Given the description of an element on the screen output the (x, y) to click on. 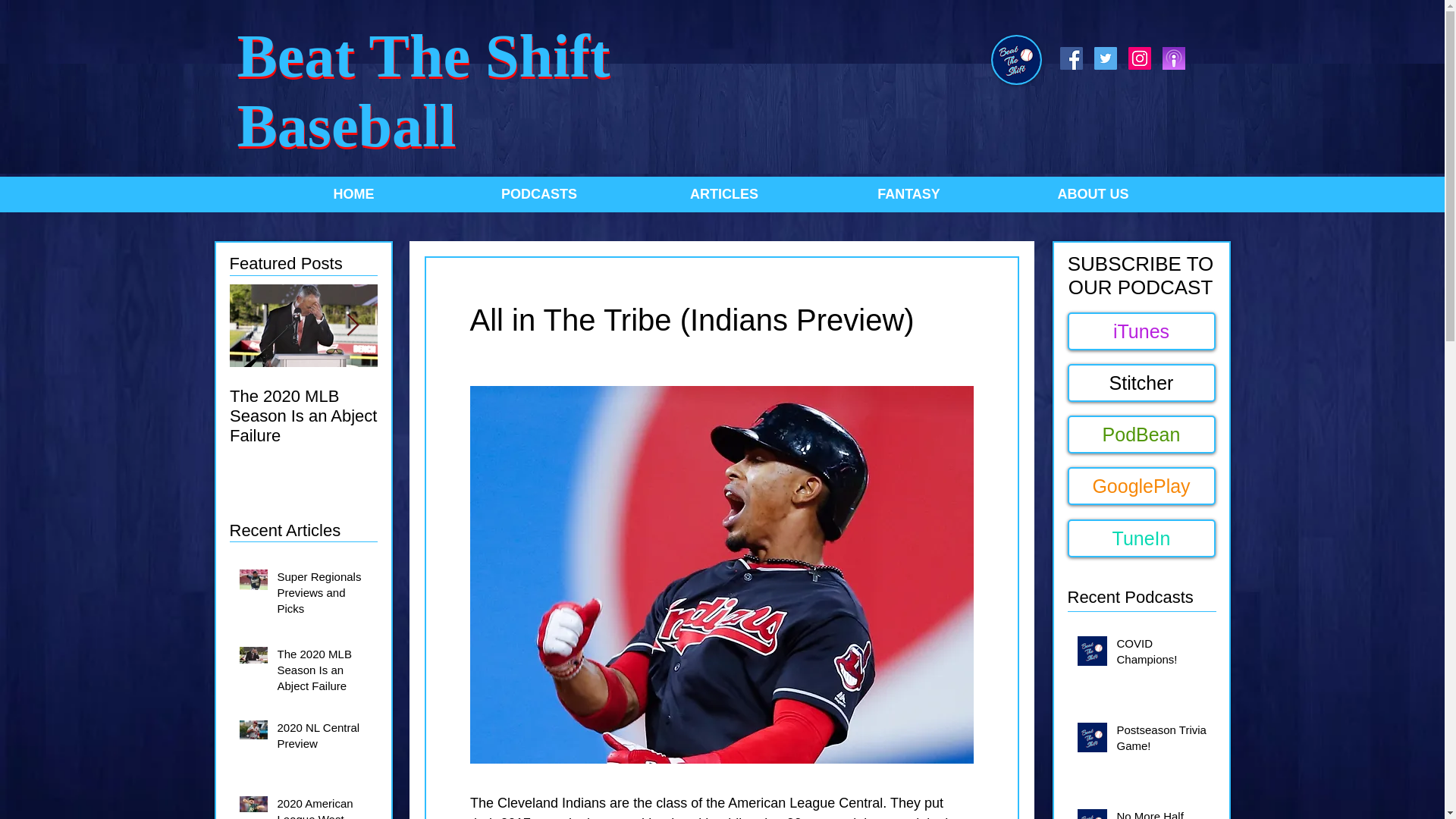
Stitcher (1141, 382)
ARTICLES (722, 193)
ABOUT US (1093, 193)
COVID Champions! (1162, 654)
HOME (352, 193)
Postseason Trivia Game! (1162, 740)
2020 American League West Preview (323, 807)
The 2020 MLB Season Is an Abject Failure (323, 673)
TuneIn (1141, 538)
PODCASTS (537, 193)
No More Half Measures! (302, 386)
iTunes (1162, 813)
The 2020 MLB Season Is an Abject Failure (1141, 331)
